Given the description of an element on the screen output the (x, y) to click on. 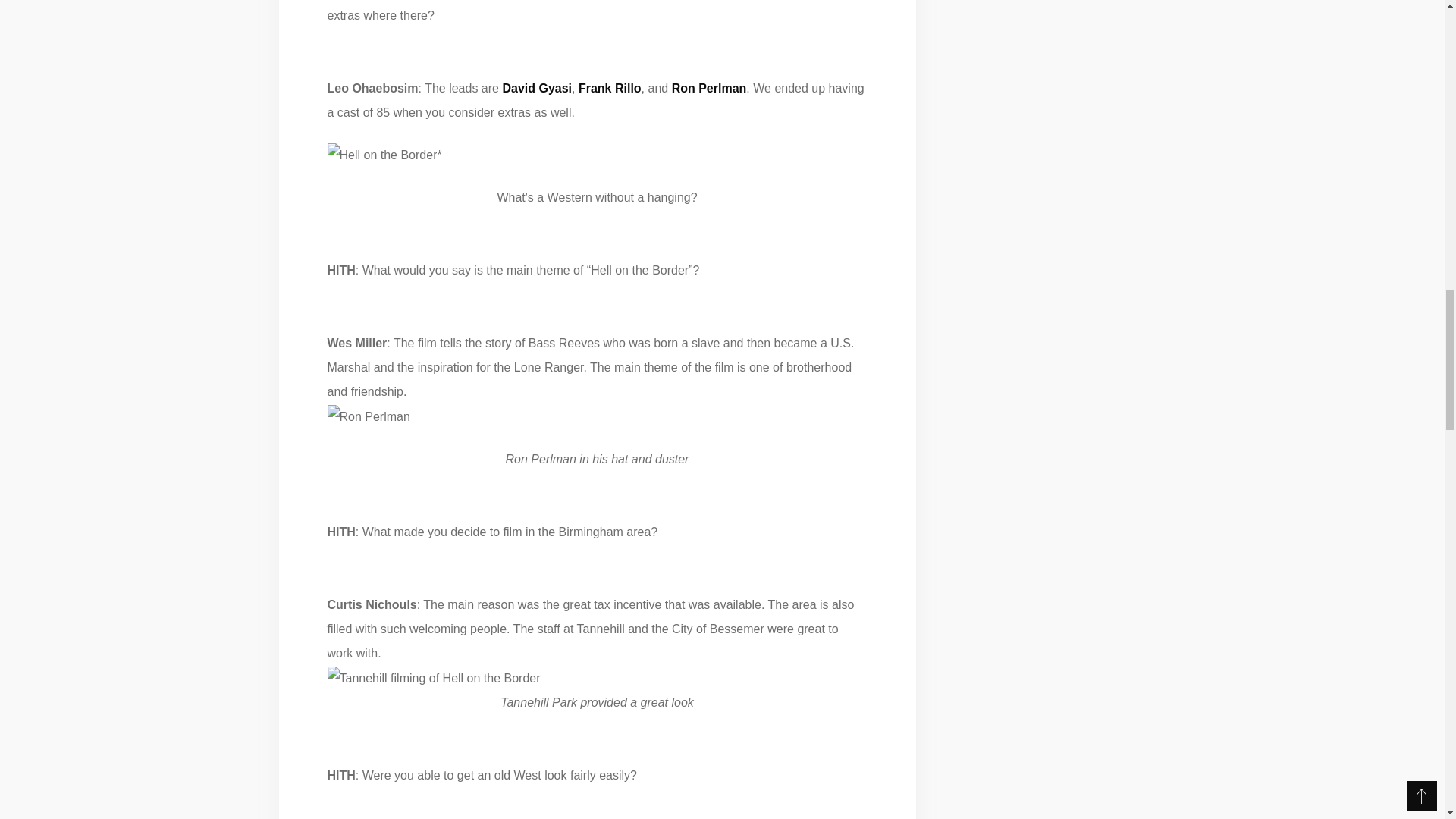
Frank Rillo (610, 88)
Ron Perlman (708, 88)
David Gyasi (537, 88)
